Given the description of an element on the screen output the (x, y) to click on. 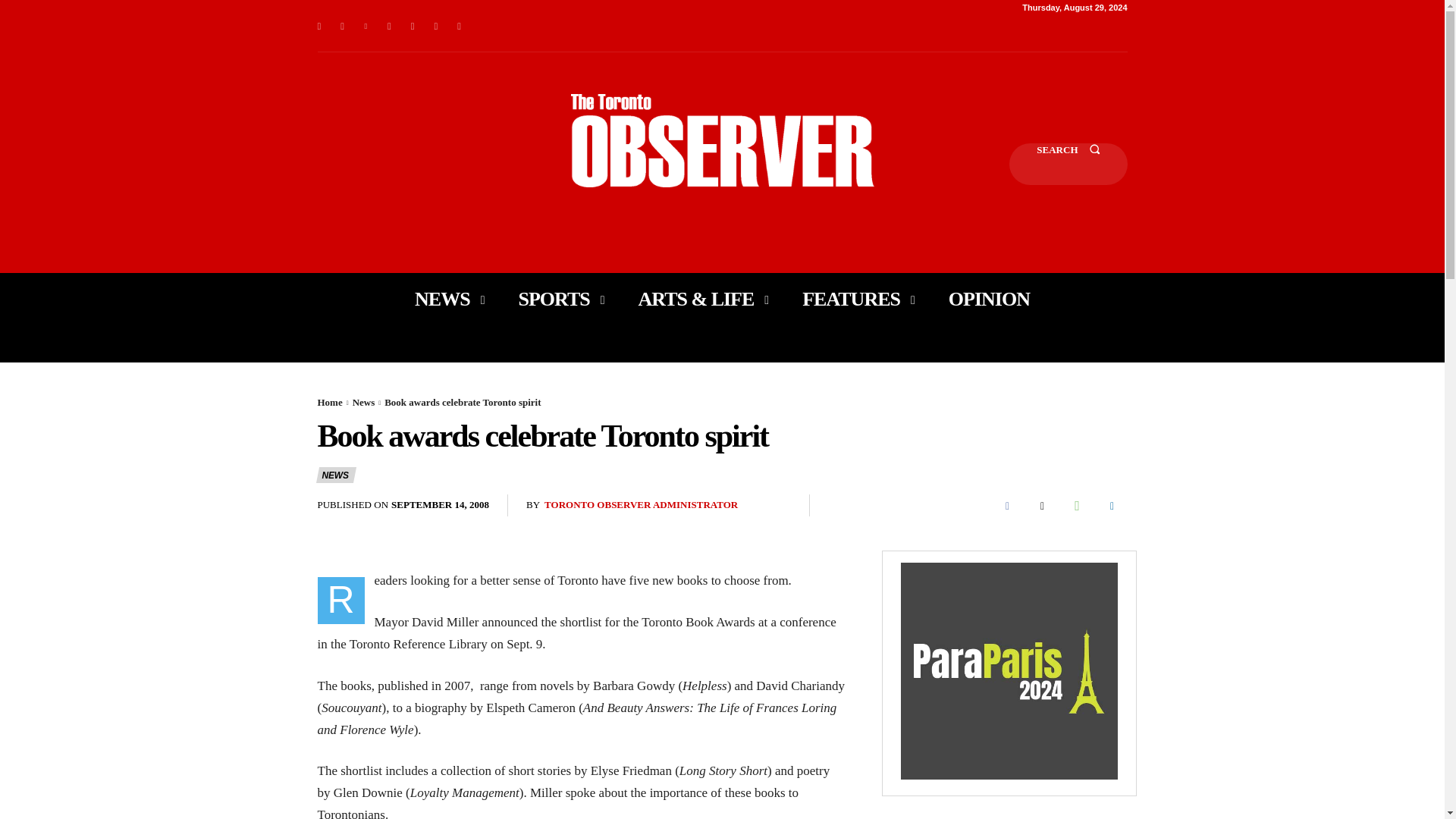
Facebook (318, 26)
Instagram (342, 26)
Soundcloud (389, 26)
Linkedin (366, 26)
